Given the description of an element on the screen output the (x, y) to click on. 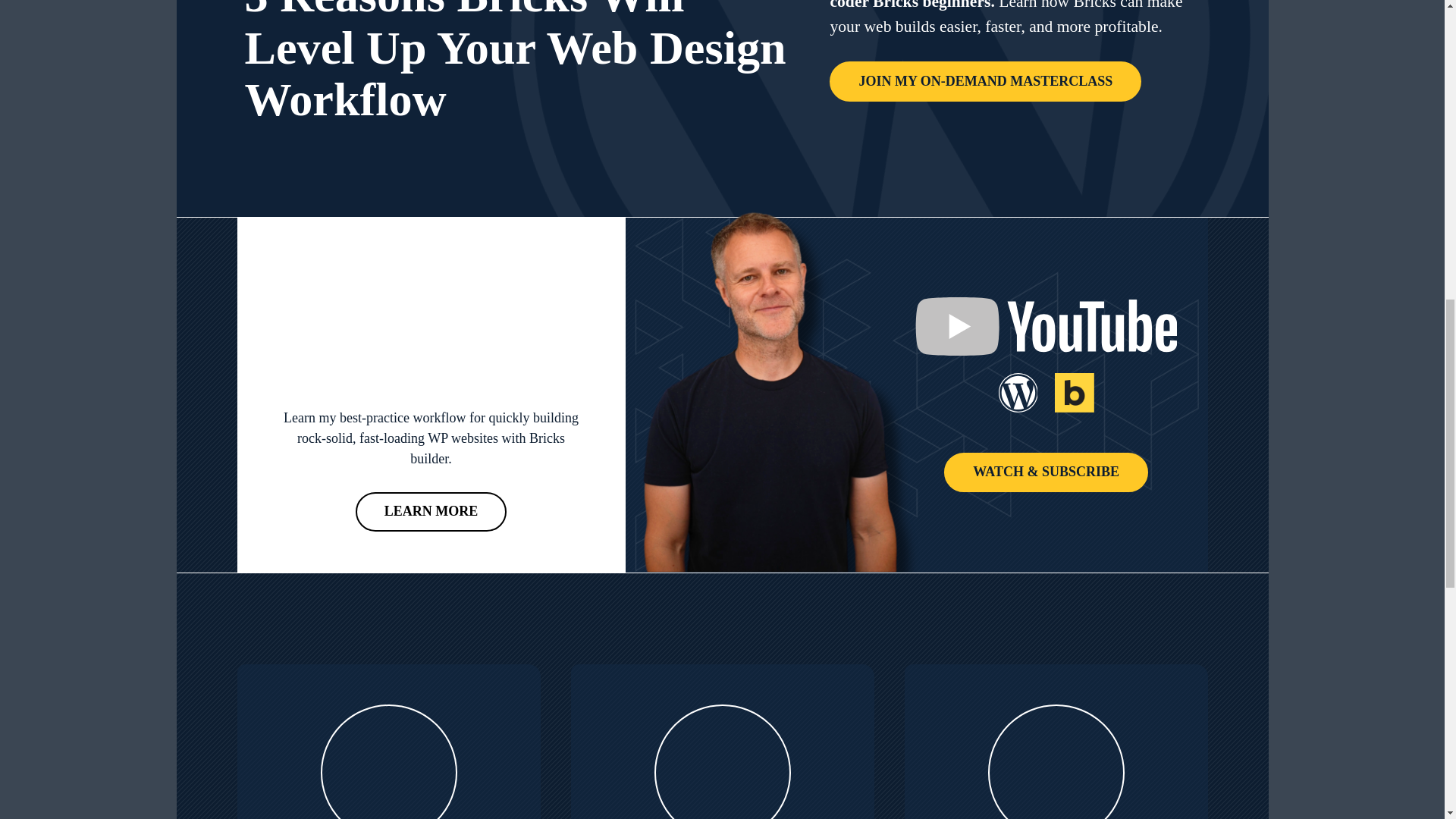
LEARN MORE (430, 512)
